Given the description of an element on the screen output the (x, y) to click on. 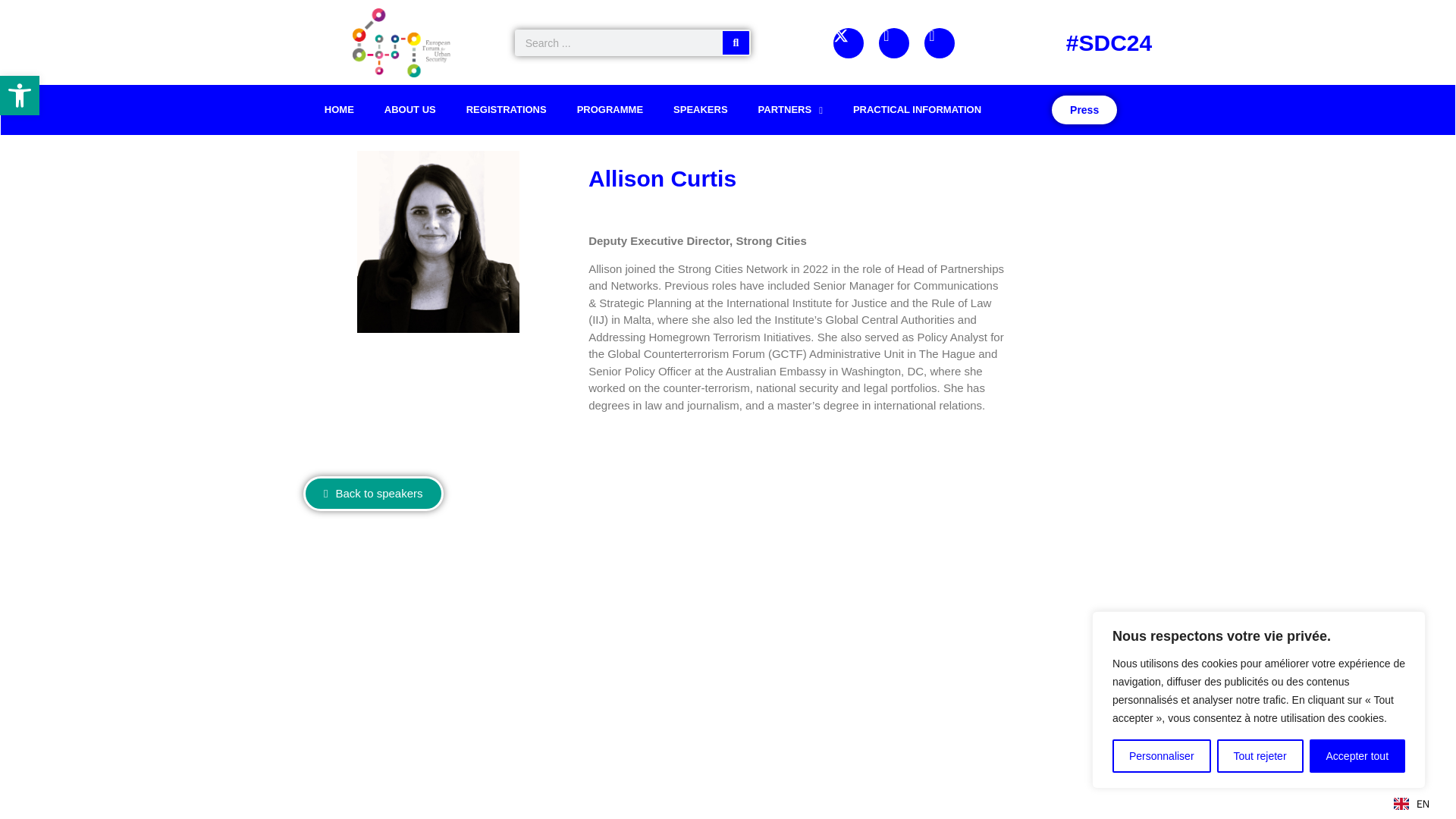
Accessibility tools (19, 95)
HOME (338, 109)
PROGRAMME (610, 109)
REGISTRATIONS (506, 109)
PARTNERS (790, 109)
Accessibility tools (19, 95)
ABOUT US (410, 109)
PRACTICAL INFORMATION (916, 109)
SPEAKERS (700, 109)
